Given the description of an element on the screen output the (x, y) to click on. 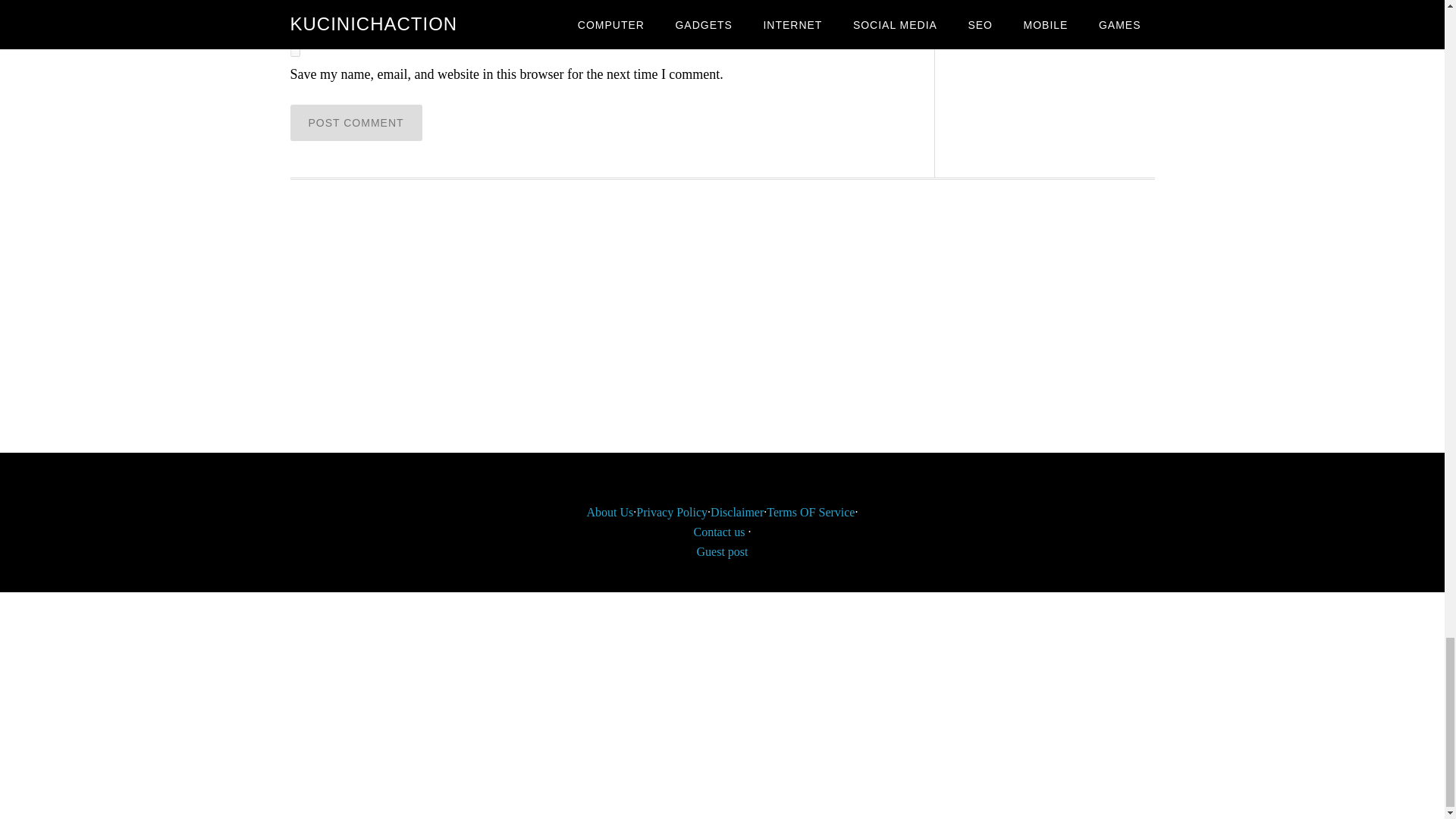
Contact us (718, 531)
Disclaimer (736, 512)
yes (294, 51)
Post Comment (355, 122)
Guest post (721, 551)
About Us (609, 512)
Terms OF Service (810, 512)
Privacy Policy (671, 512)
Post Comment (355, 122)
